Given the description of an element on the screen output the (x, y) to click on. 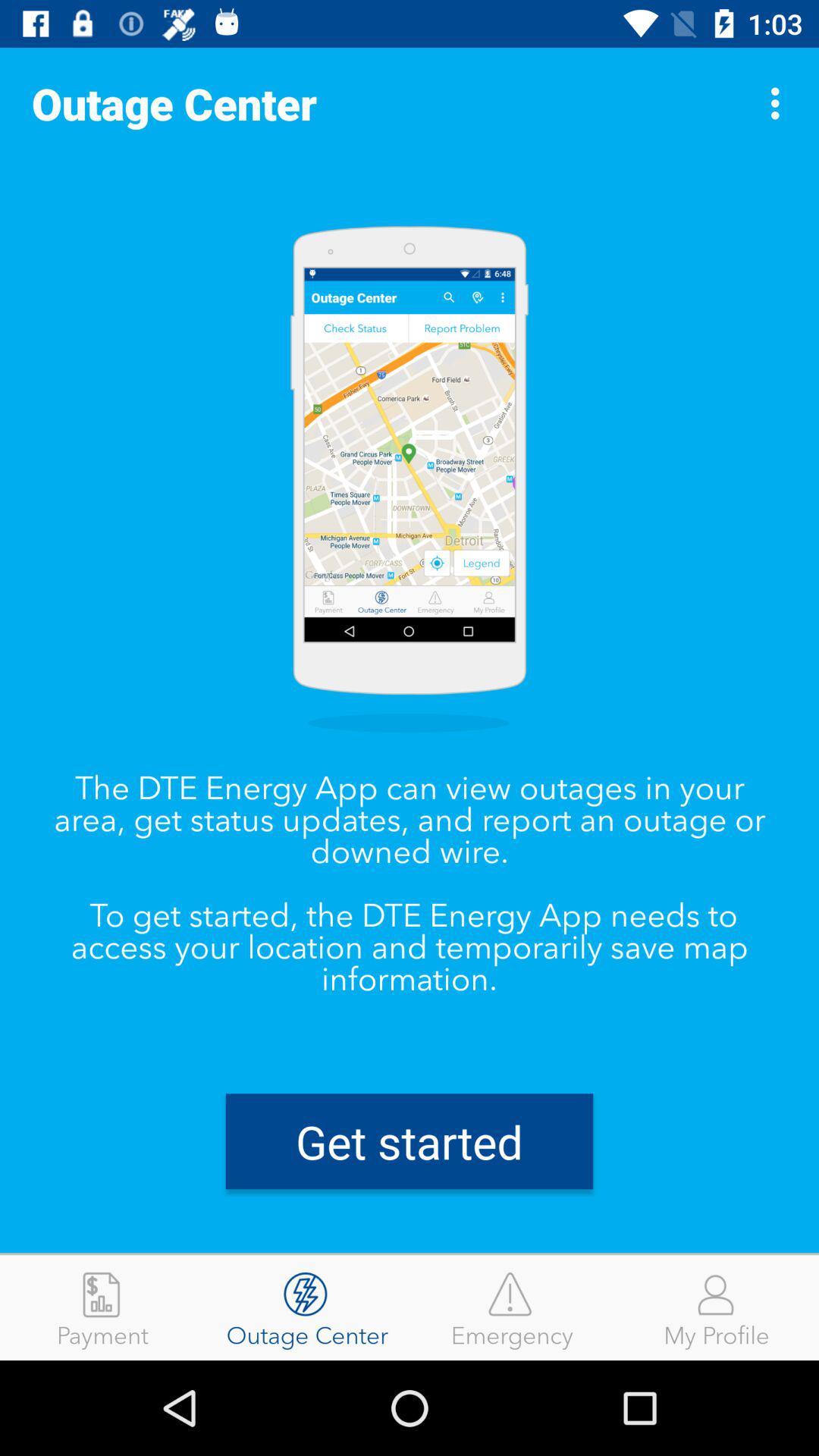
jump to emergency (511, 1307)
